Given the description of an element on the screen output the (x, y) to click on. 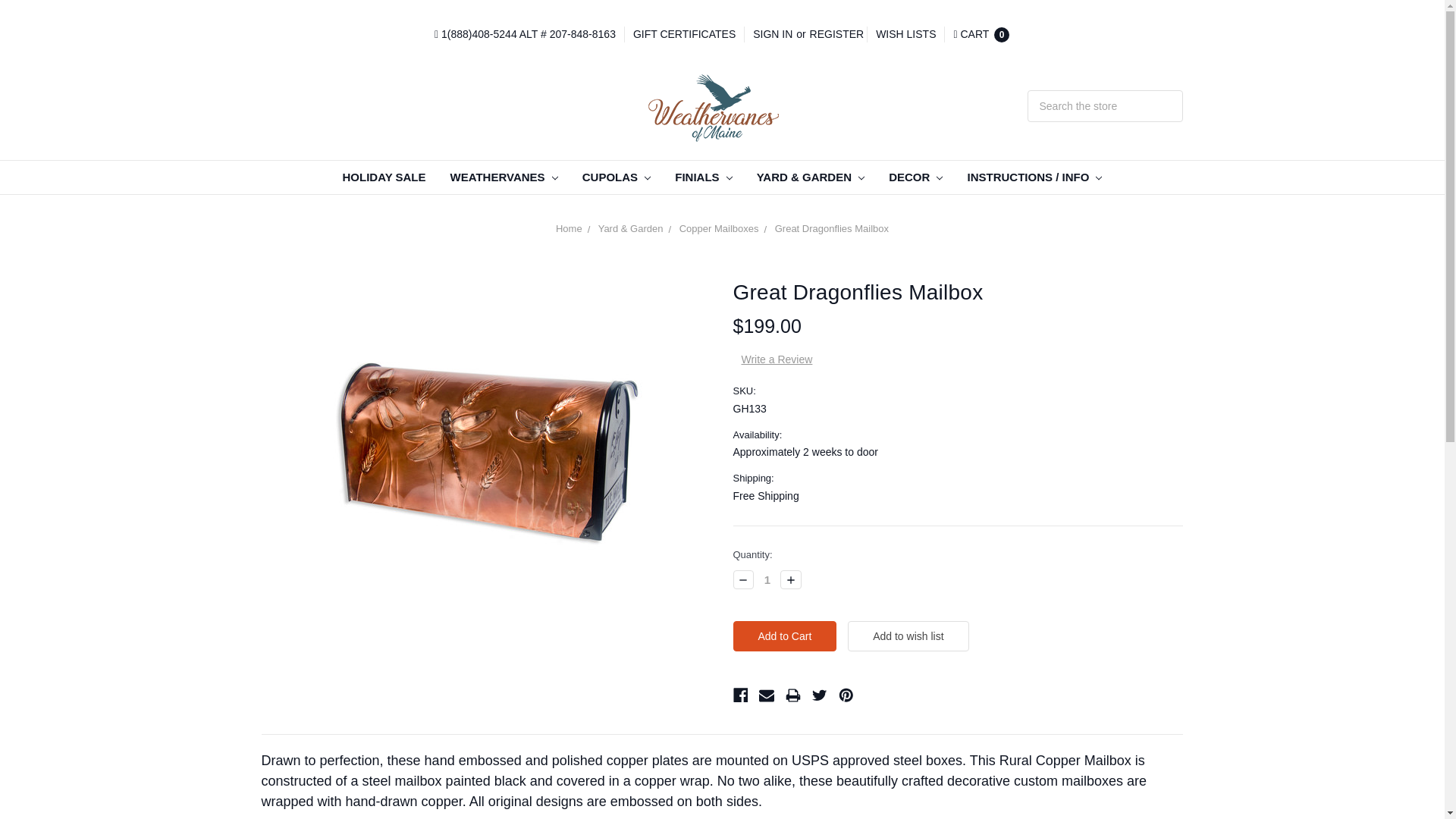
Weathervanes of Maine (721, 105)
WEATHERVANES (504, 177)
HOLIDAY SALE (384, 177)
1 (767, 579)
Add to wish list (907, 635)
WISH LISTS (905, 34)
CART 0 (980, 34)
CUPOLAS (616, 177)
SIGN IN (772, 34)
REGISTER (837, 34)
Add to Cart (783, 635)
Great Dragonflies Mailbox  (486, 452)
GIFT CERTIFICATES (684, 34)
